Given the description of an element on the screen output the (x, y) to click on. 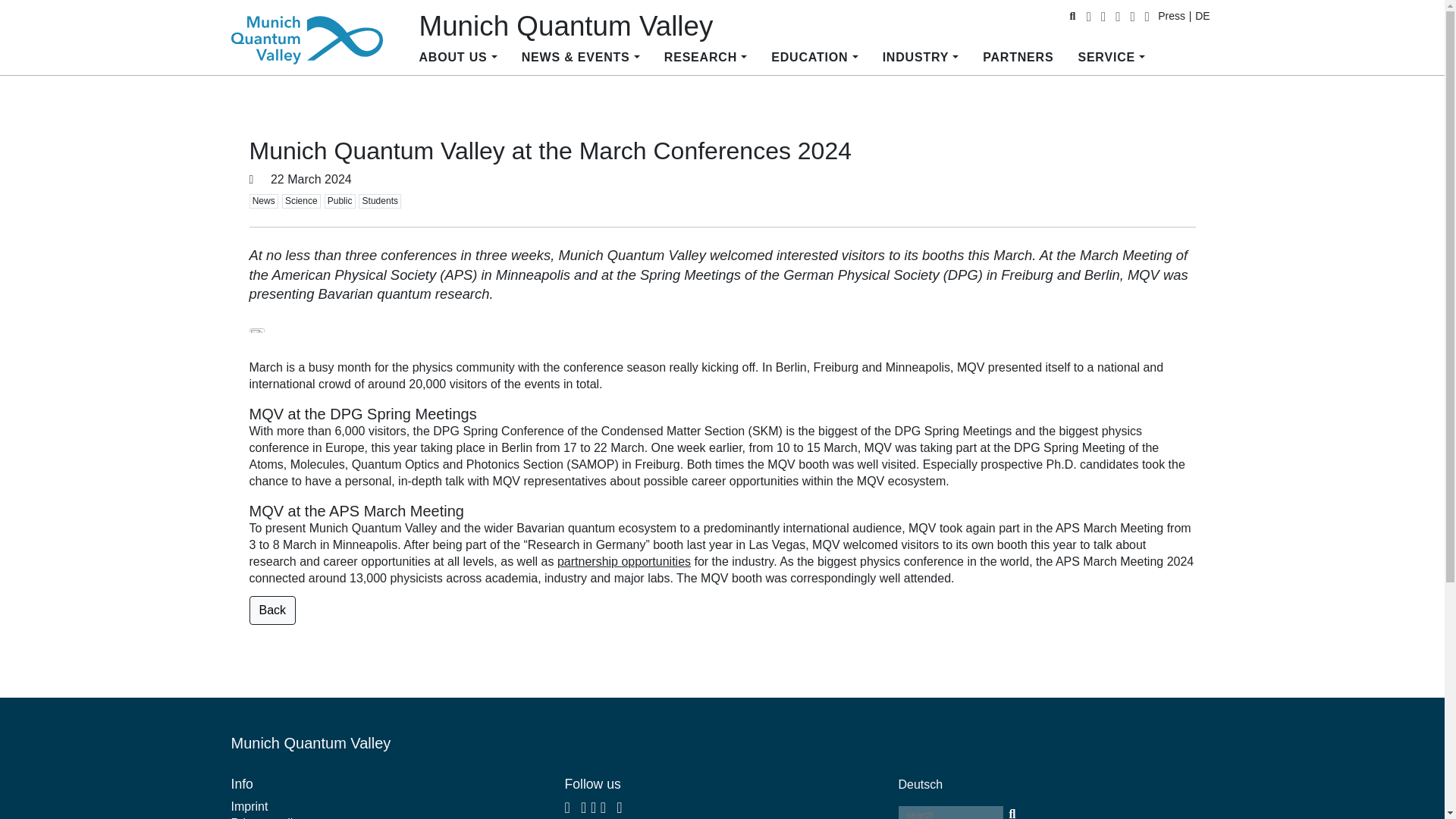
Research (705, 57)
Deutsch (1201, 16)
About us (457, 57)
Press (1171, 16)
